Given the description of an element on the screen output the (x, y) to click on. 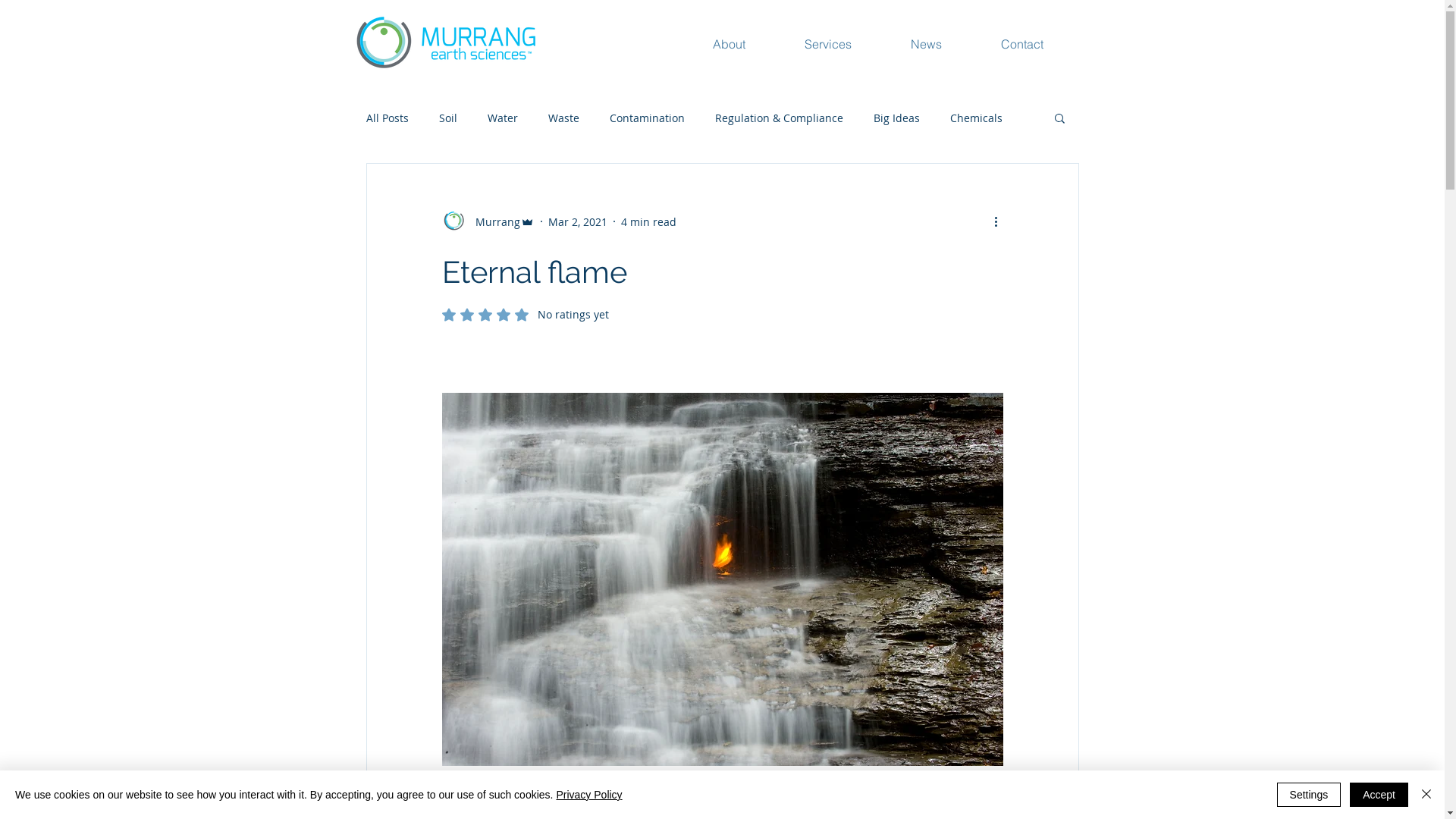
All Posts Element type: text (386, 117)
Water Element type: text (501, 117)
Rated 0 out of 5 stars.
No ratings yet Element type: text (524, 314)
Murrang Element type: text (487, 221)
Privacy Policy Element type: text (588, 794)
About Element type: text (751, 42)
Contamination Element type: text (646, 117)
Accept Element type: text (1378, 794)
Waste Element type: text (562, 117)
Soil Element type: text (447, 117)
Chemicals Element type: text (975, 117)
Contact Element type: text (1043, 42)
Big Ideas Element type: text (896, 117)
Regulation & Compliance Element type: text (778, 117)
Settings Element type: text (1309, 794)
Services Element type: text (849, 42)
